Given the description of an element on the screen output the (x, y) to click on. 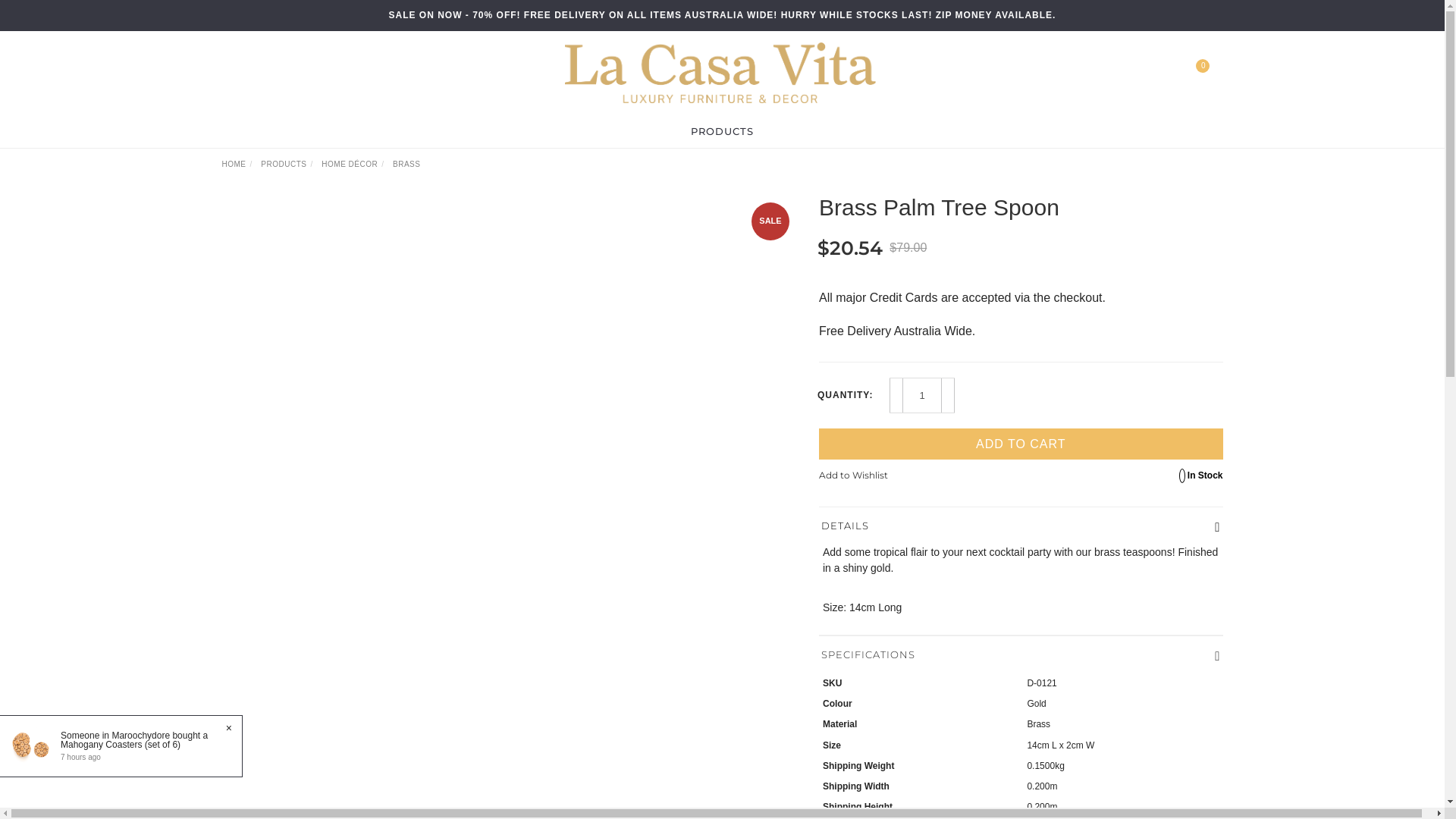
DETAILS Element type: text (1021, 525)
HOME Element type: text (233, 164)
PRODUCTS Element type: text (722, 130)
PRODUCTS Element type: text (283, 164)
Add to Wishlist Element type: text (853, 474)
BRASS Element type: text (406, 164)
0 Element type: text (1208, 71)
La Casa Vita Element type: hover (719, 71)
ADD TO CART Element type: text (1021, 443)
SPECIFICATIONS Element type: text (1021, 654)
